Given the description of an element on the screen output the (x, y) to click on. 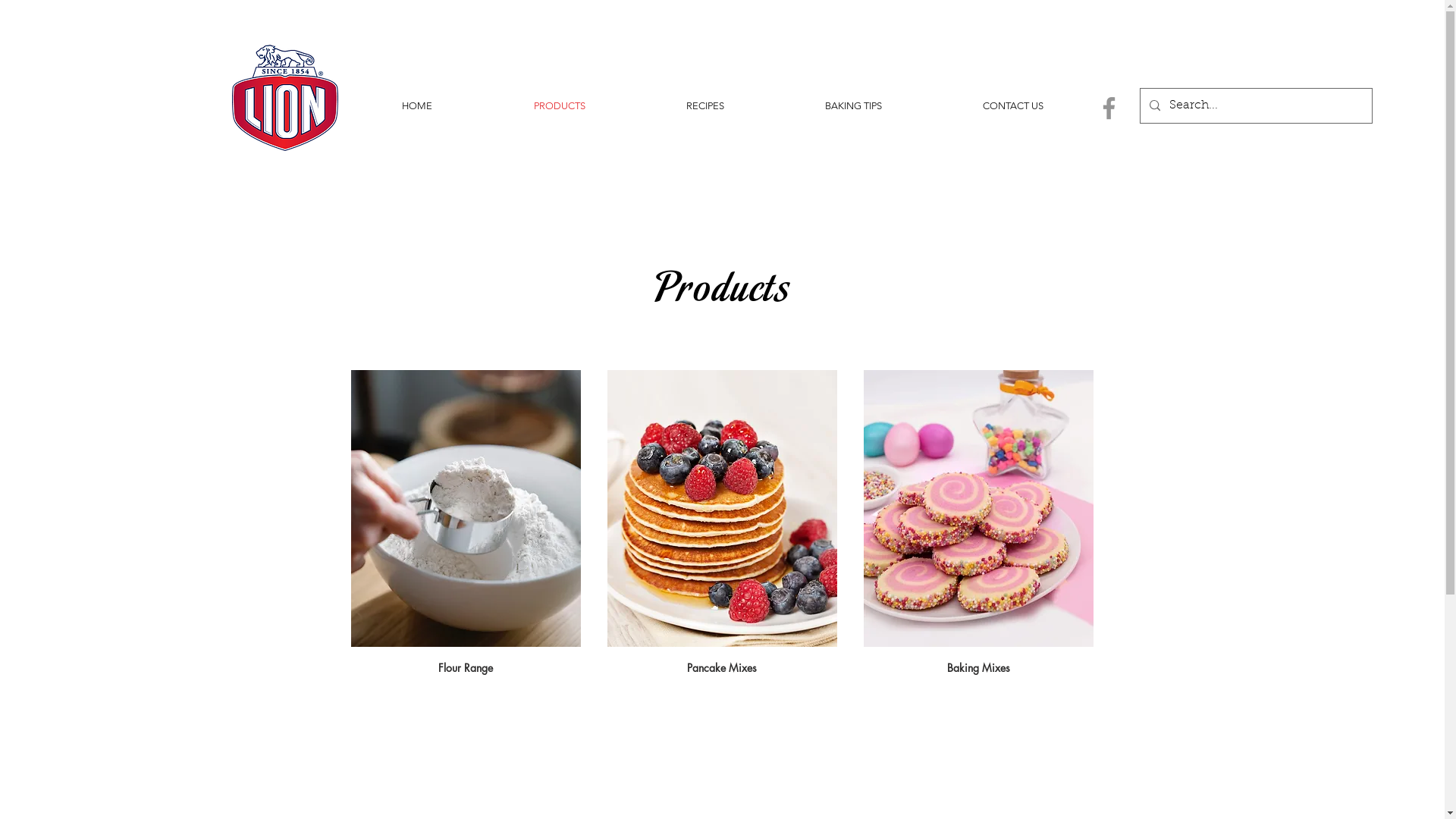
HOME Element type: text (416, 105)
Baking Mixes Element type: text (978, 527)
PRODUCTS Element type: text (558, 105)
Pancake Mixes Element type: text (722, 527)
BAKING TIPS Element type: text (853, 105)
RECIPES Element type: text (704, 105)
Flour Range Element type: text (465, 527)
CONTACT US Element type: text (1013, 105)
